Given the description of an element on the screen output the (x, y) to click on. 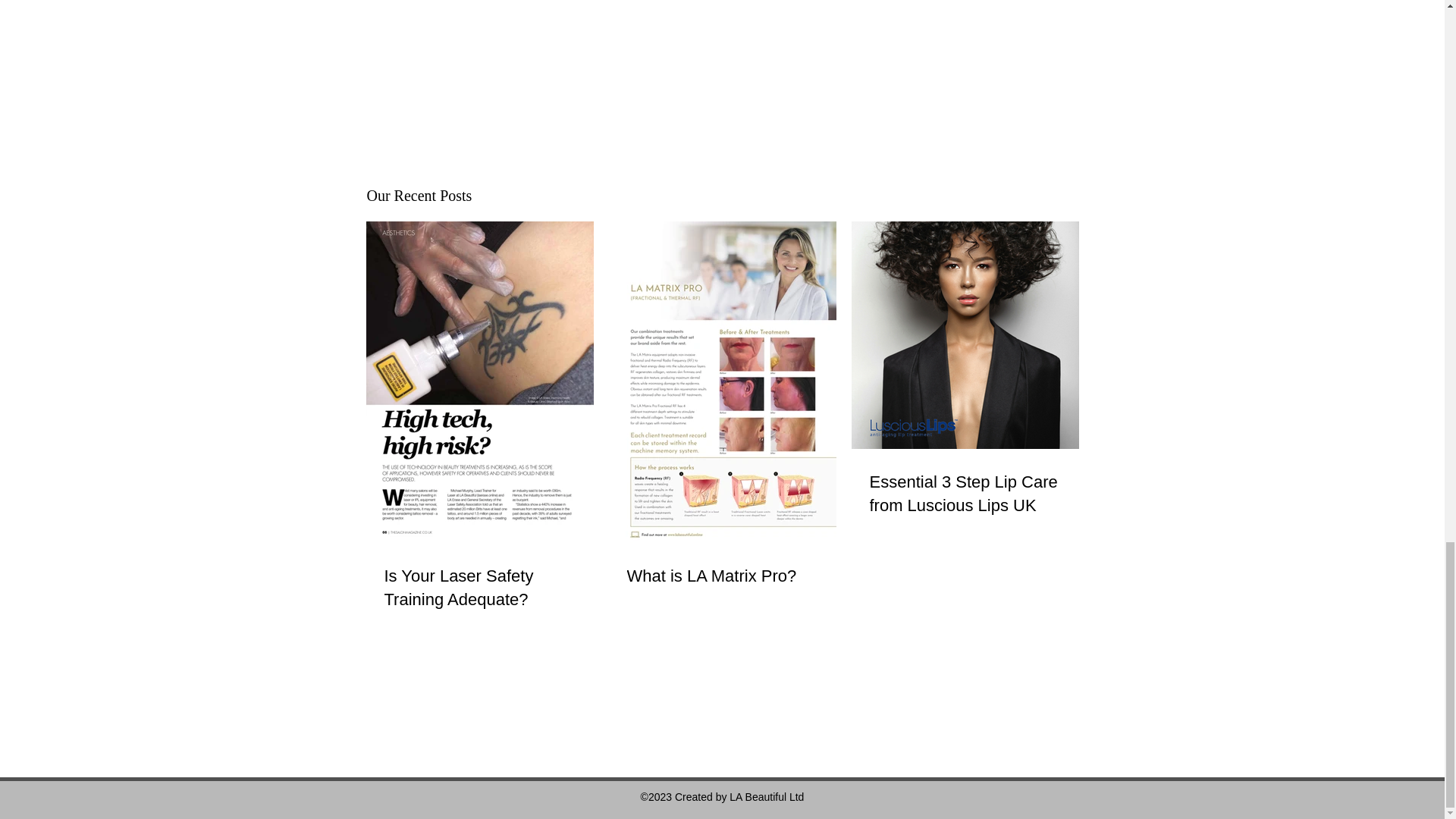
What is LA Matrix Pro? (721, 576)
Is Your Laser Safety Training Adequate? (479, 588)
Essential 3 Step Lip Care from Luscious Lips UK (964, 493)
